Given the description of an element on the screen output the (x, y) to click on. 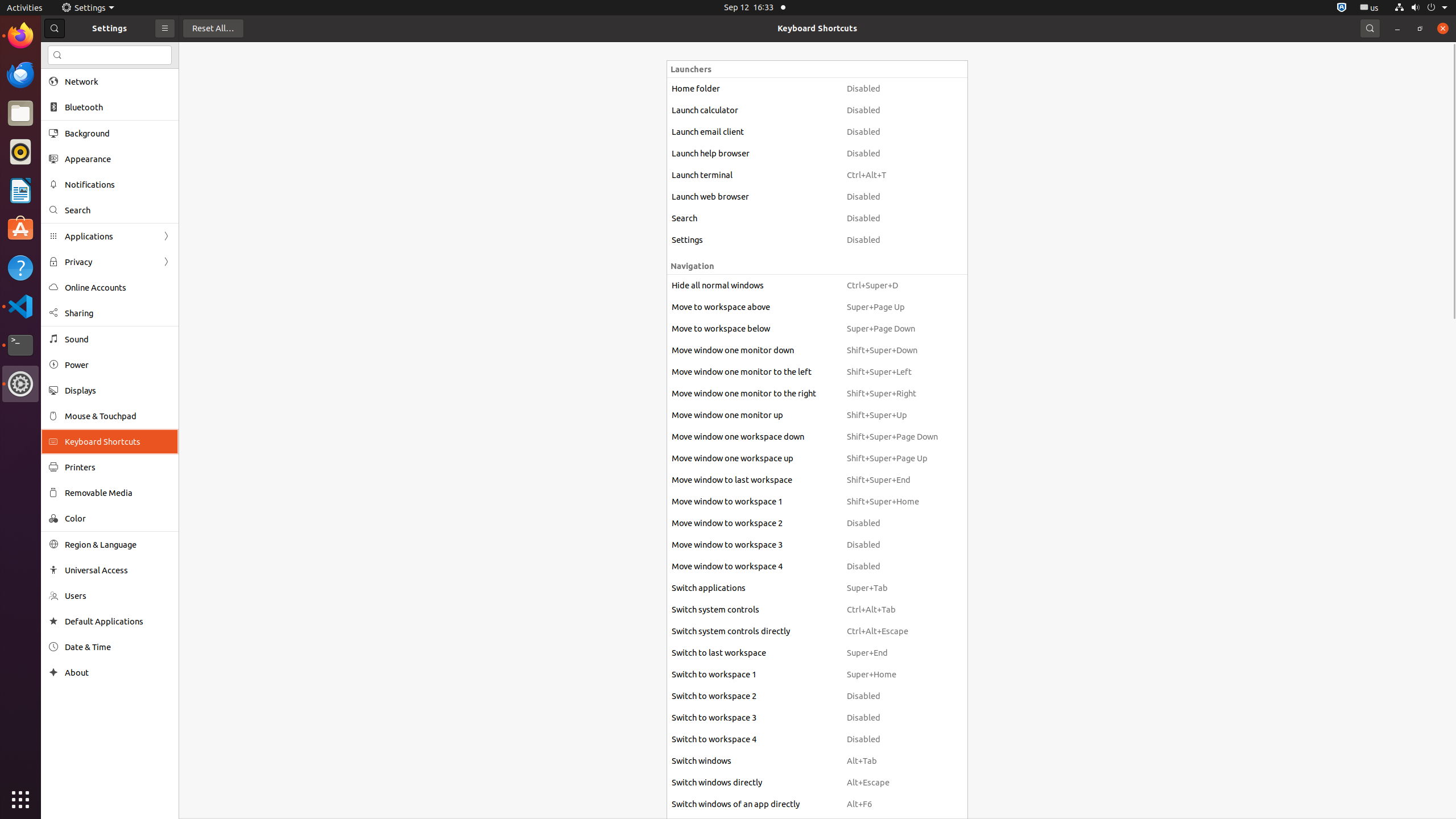
Search Element type: text (109, 54)
Applications Element type: label (109, 236)
Switch system controls directly Element type: label (753, 630)
IsaHelpMain.desktop Element type: label (75, 170)
